Given the description of an element on the screen output the (x, y) to click on. 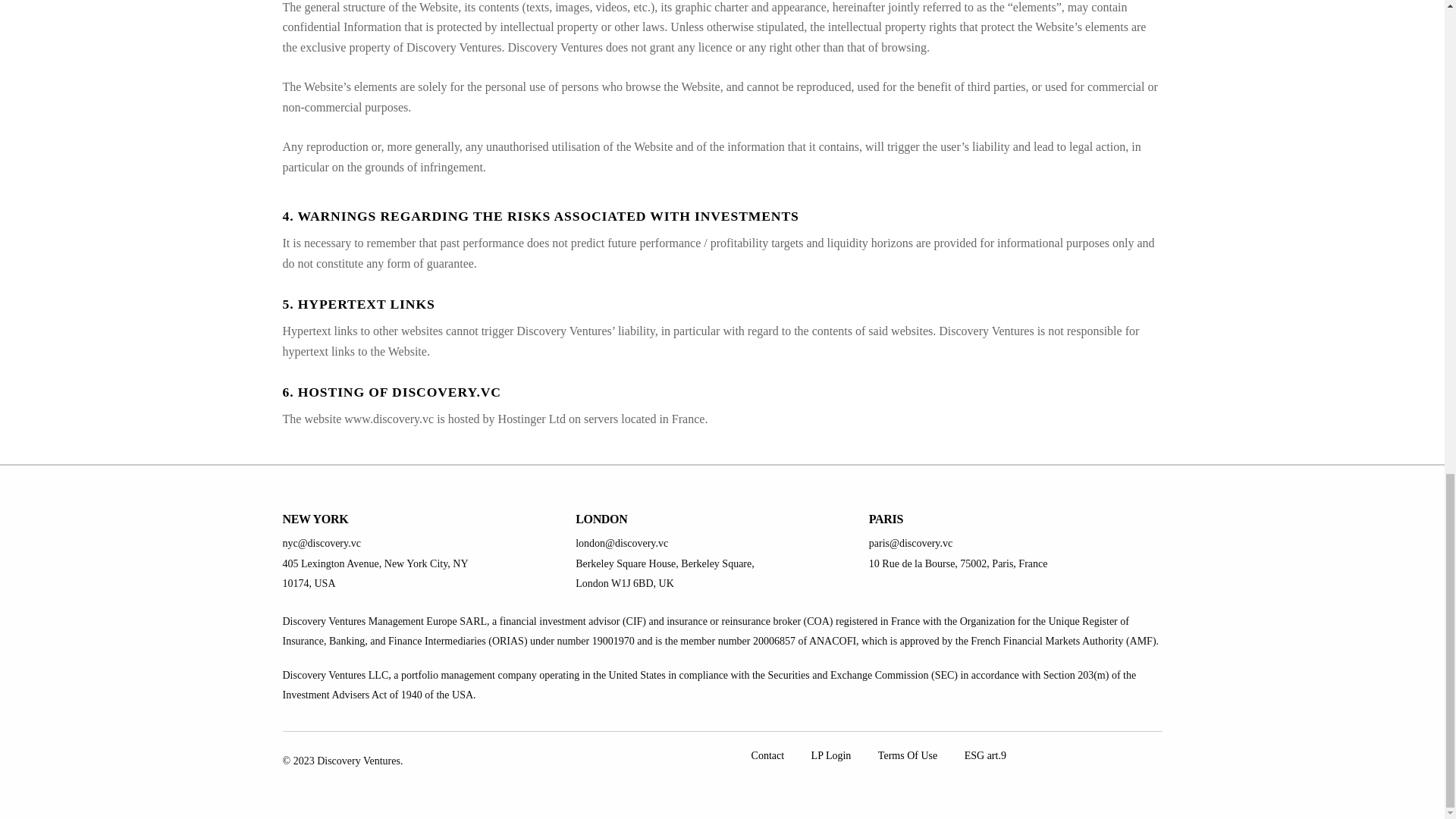
Contact (767, 756)
ESG art.9 (984, 756)
LP Login (830, 756)
Terms Of Use (907, 756)
